Given the description of an element on the screen output the (x, y) to click on. 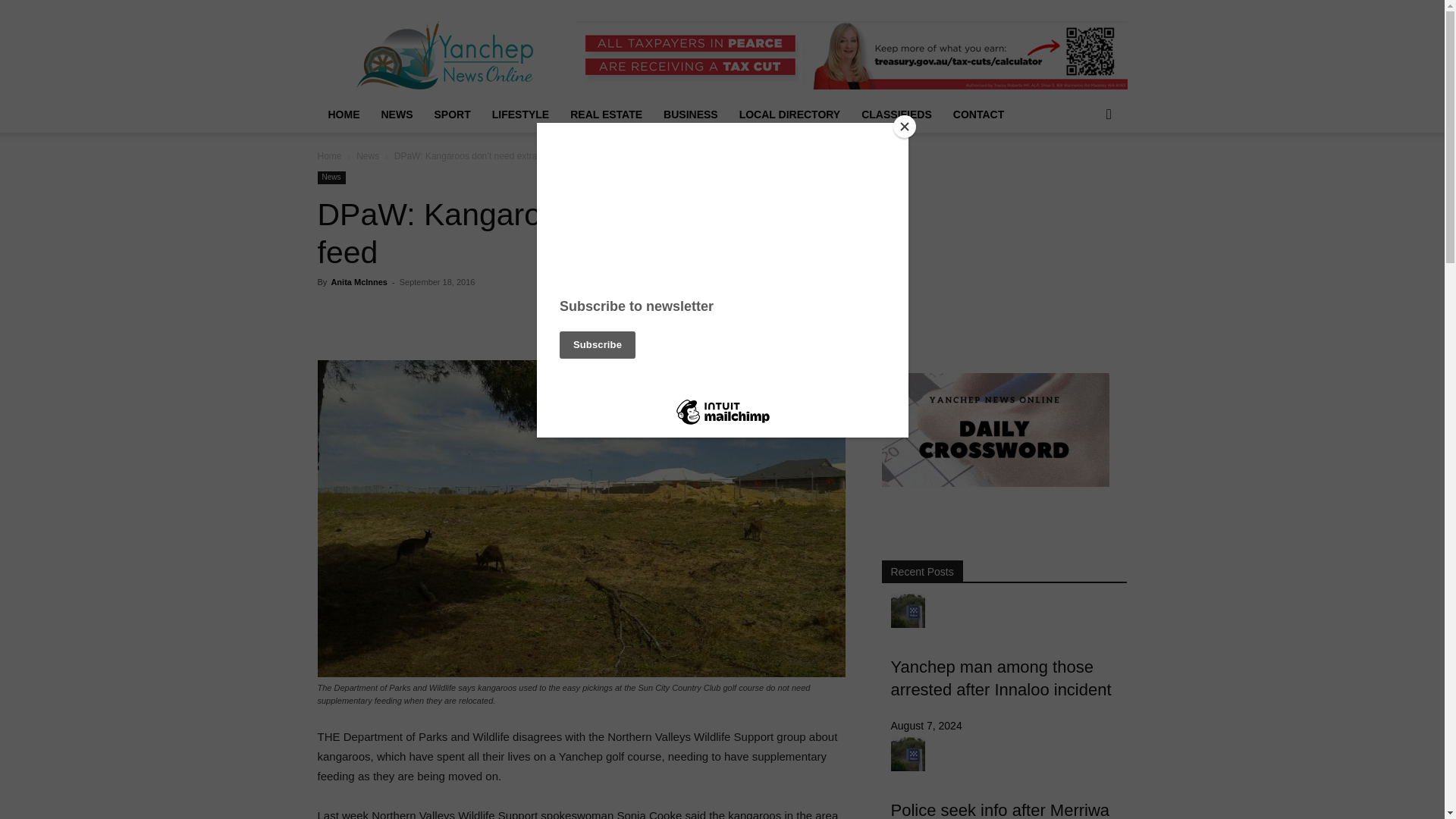
LIFESTYLE (520, 114)
SPORT (451, 114)
HOME (343, 114)
NEWS (396, 114)
